Given the description of an element on the screen output the (x, y) to click on. 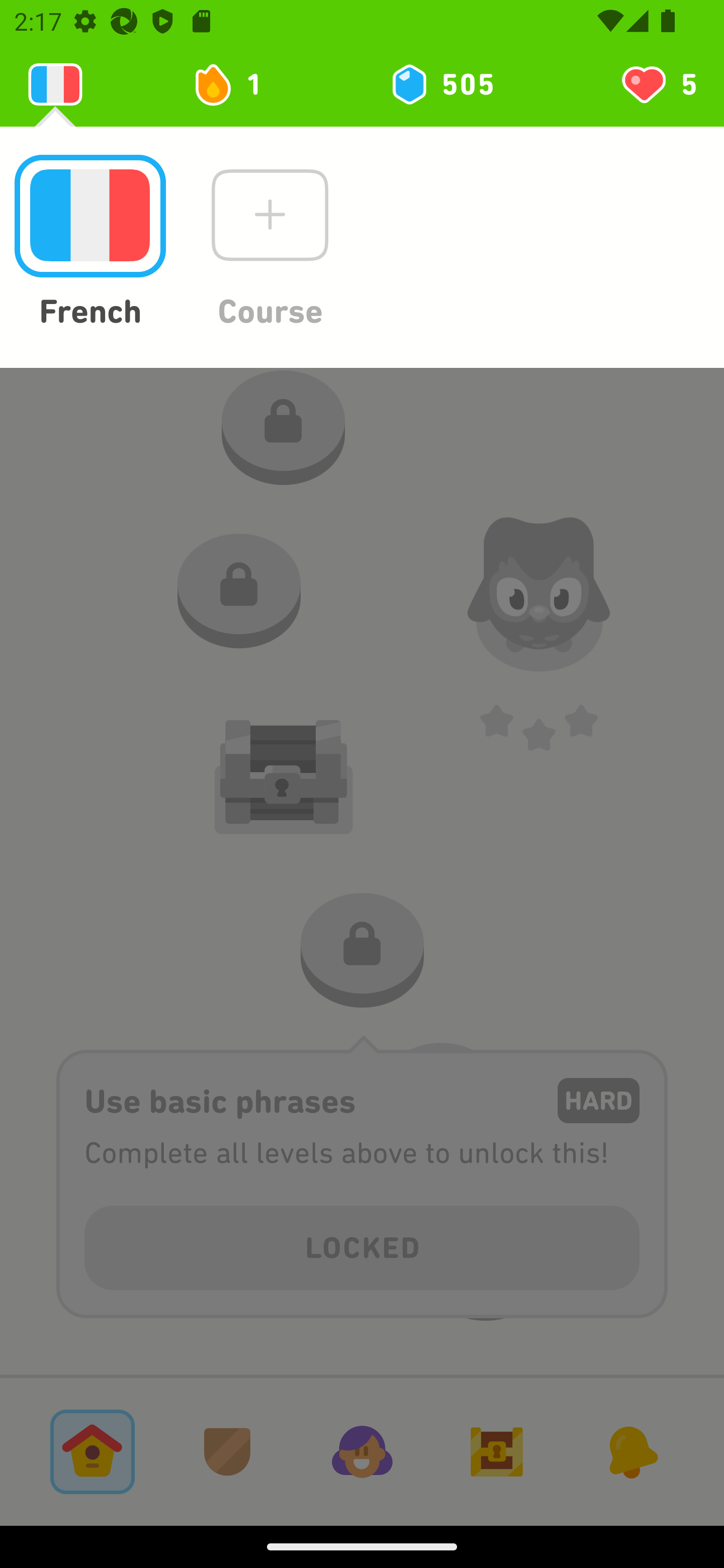
Learning 2131888976 (55, 84)
1 day streak 1 (236, 84)
505 (441, 84)
You have 5 hearts left 5 (657, 84)
French (89, 242)
Course (270, 242)
